Given the description of an element on the screen output the (x, y) to click on. 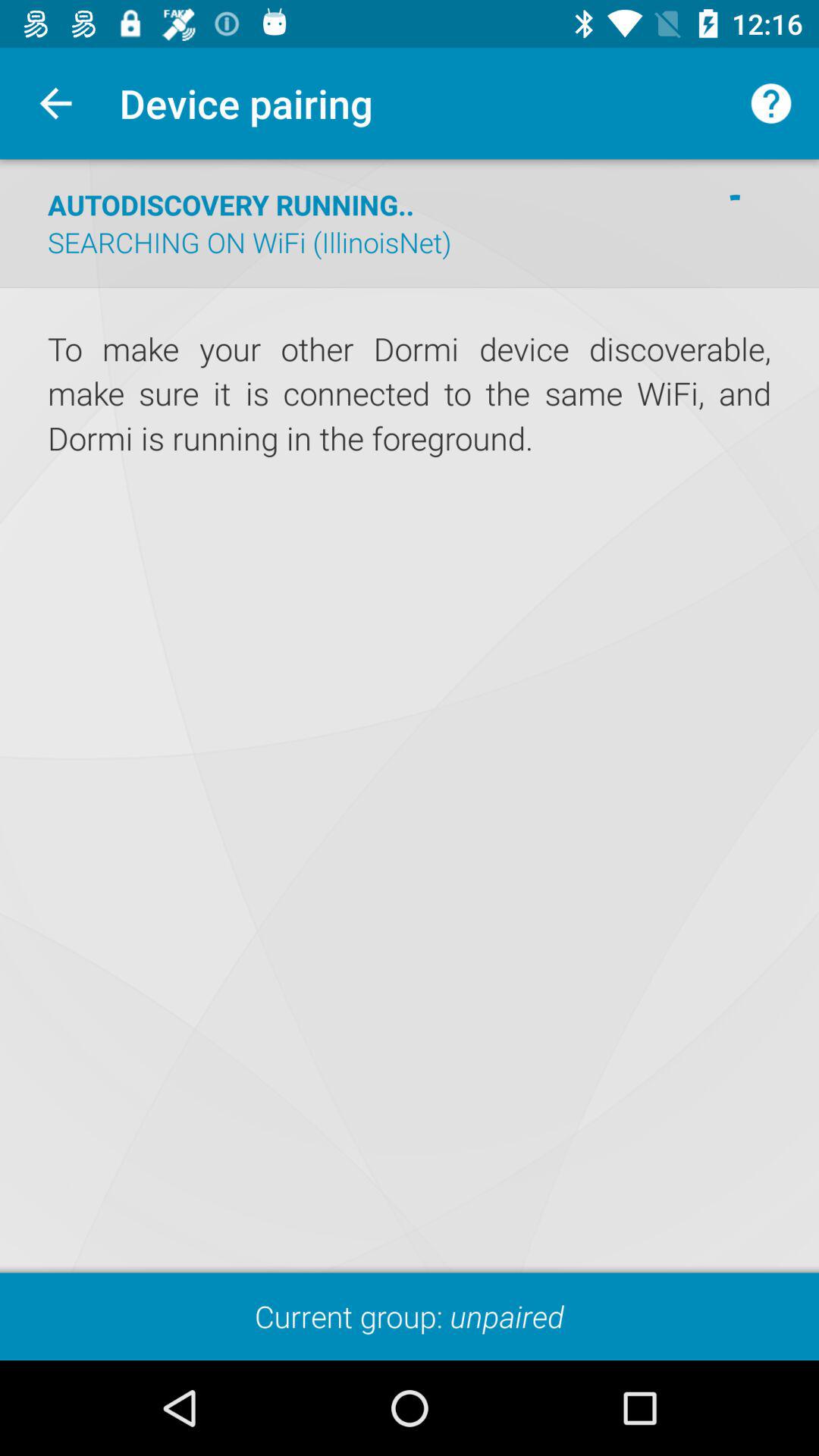
turn on item below searching on wifi (409, 287)
